Given the description of an element on the screen output the (x, y) to click on. 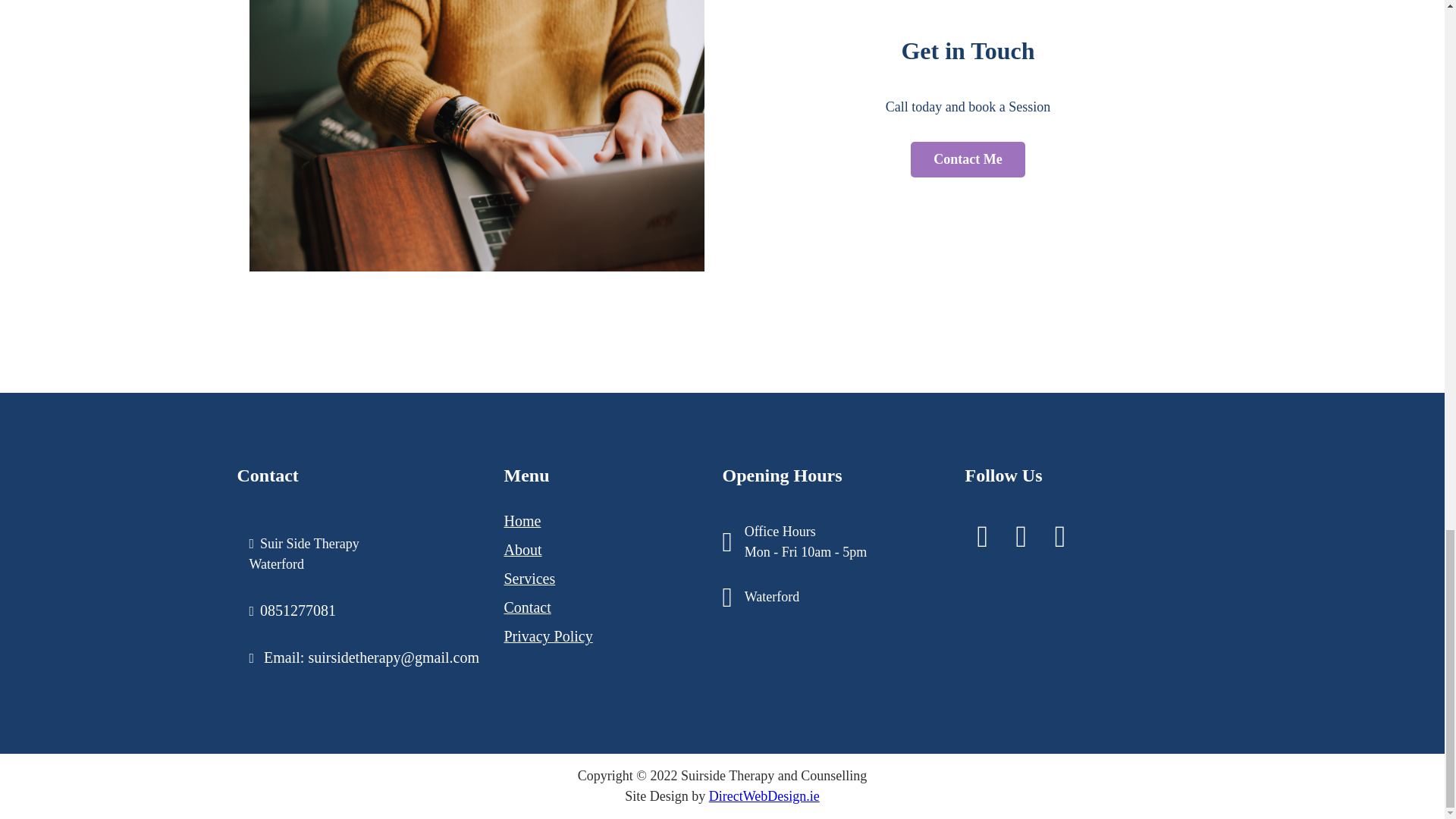
Privacy Policy (547, 636)
DirectWebDesign.ie (764, 795)
About (522, 549)
Services (528, 578)
instagram Link (1060, 541)
Home (521, 520)
Linkin Link (1021, 541)
Facebook (981, 541)
Contact (526, 606)
Contact Me (968, 159)
